Given the description of an element on the screen output the (x, y) to click on. 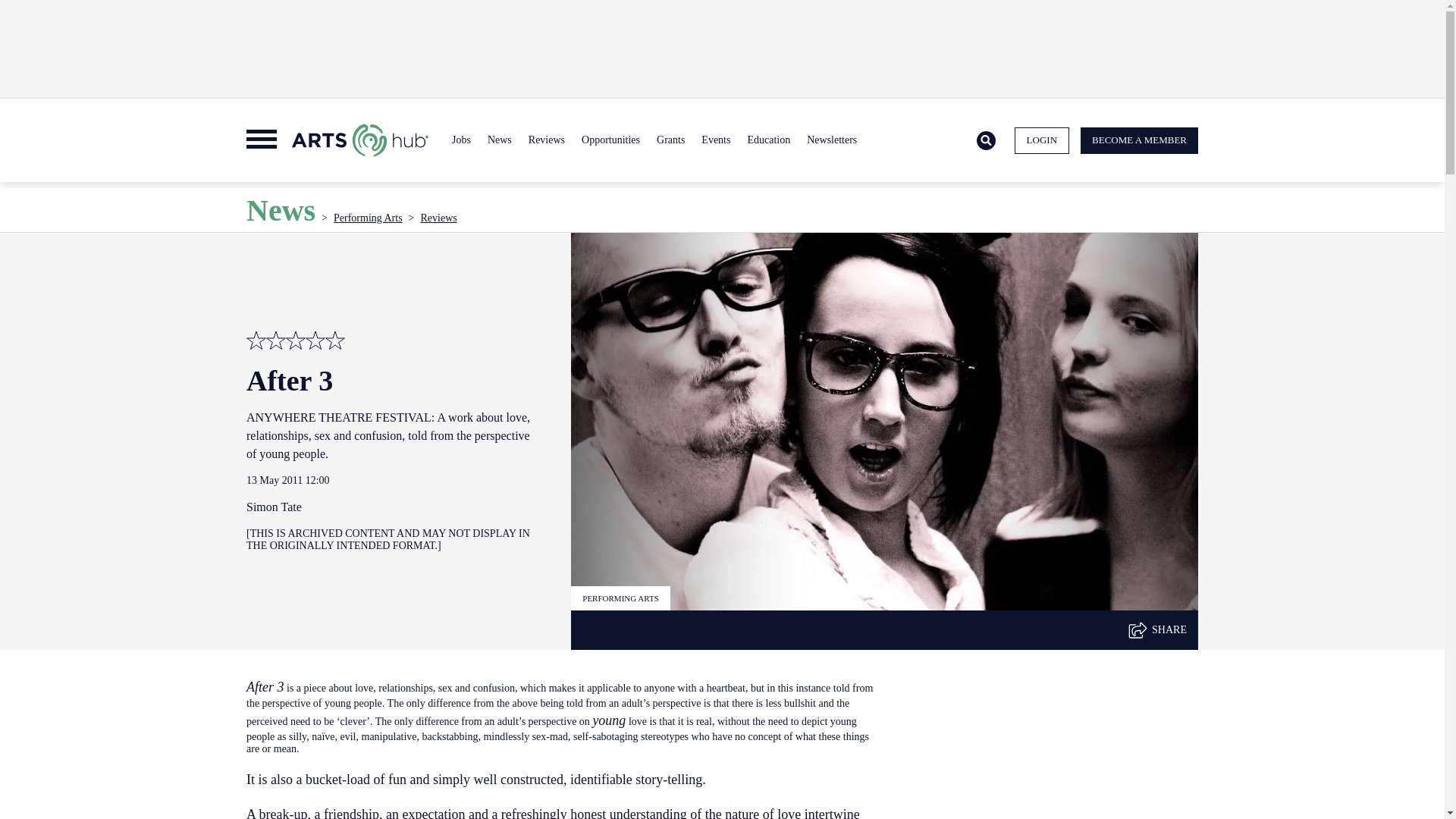
Search Icon (985, 140)
Opportunities (610, 139)
Education (768, 139)
Stars (295, 340)
Jobs (461, 139)
Stars (256, 340)
Search Icon (985, 139)
Grants (670, 139)
LOGIN (1041, 140)
Reviews (546, 139)
